Given the description of an element on the screen output the (x, y) to click on. 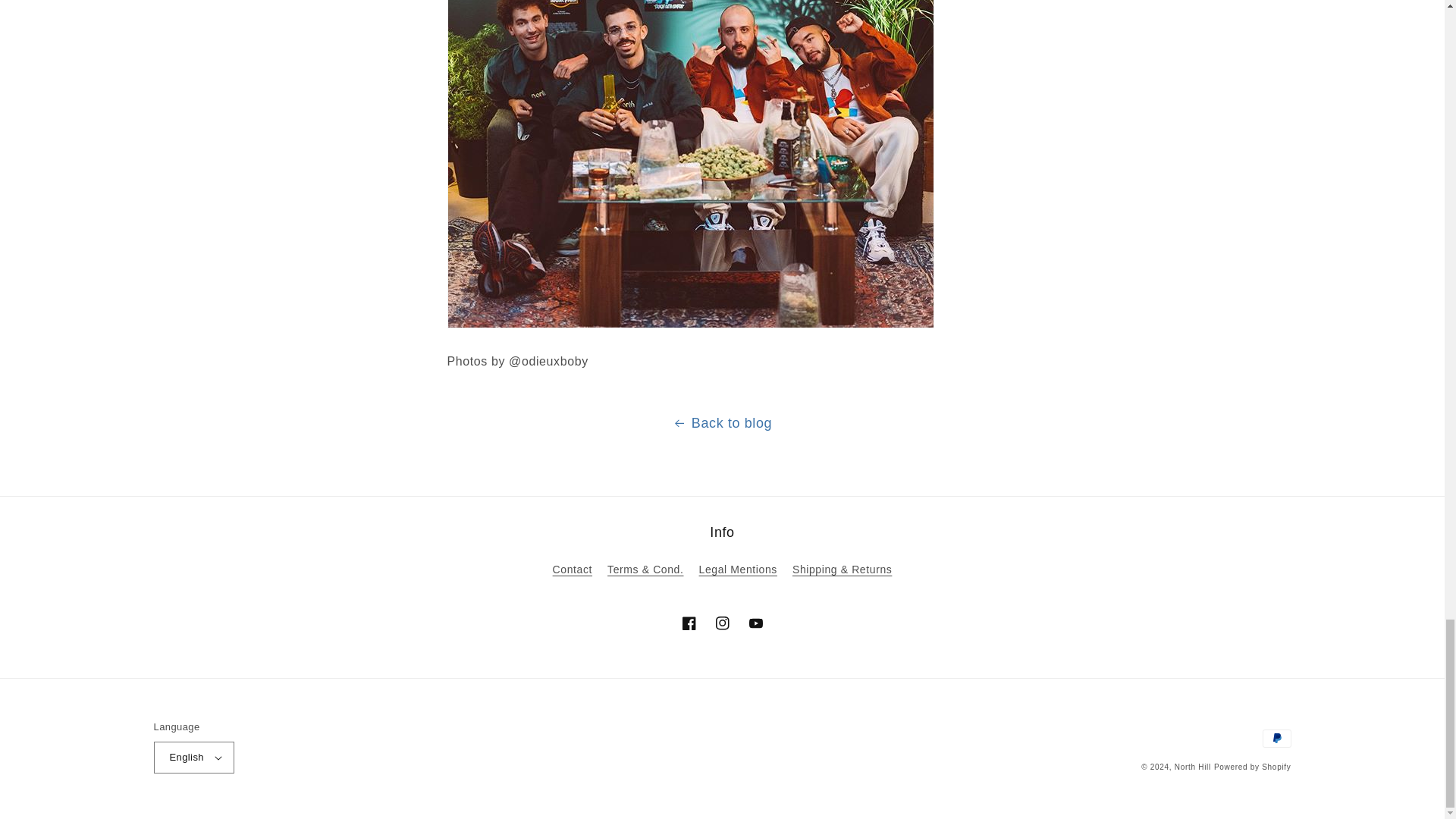
Contact (572, 571)
YouTube (754, 622)
Powered by Shopify (1252, 766)
English (192, 757)
Legal Mentions (737, 569)
Facebook (687, 622)
Instagram (721, 622)
North Hill (1192, 766)
